Given the description of an element on the screen output the (x, y) to click on. 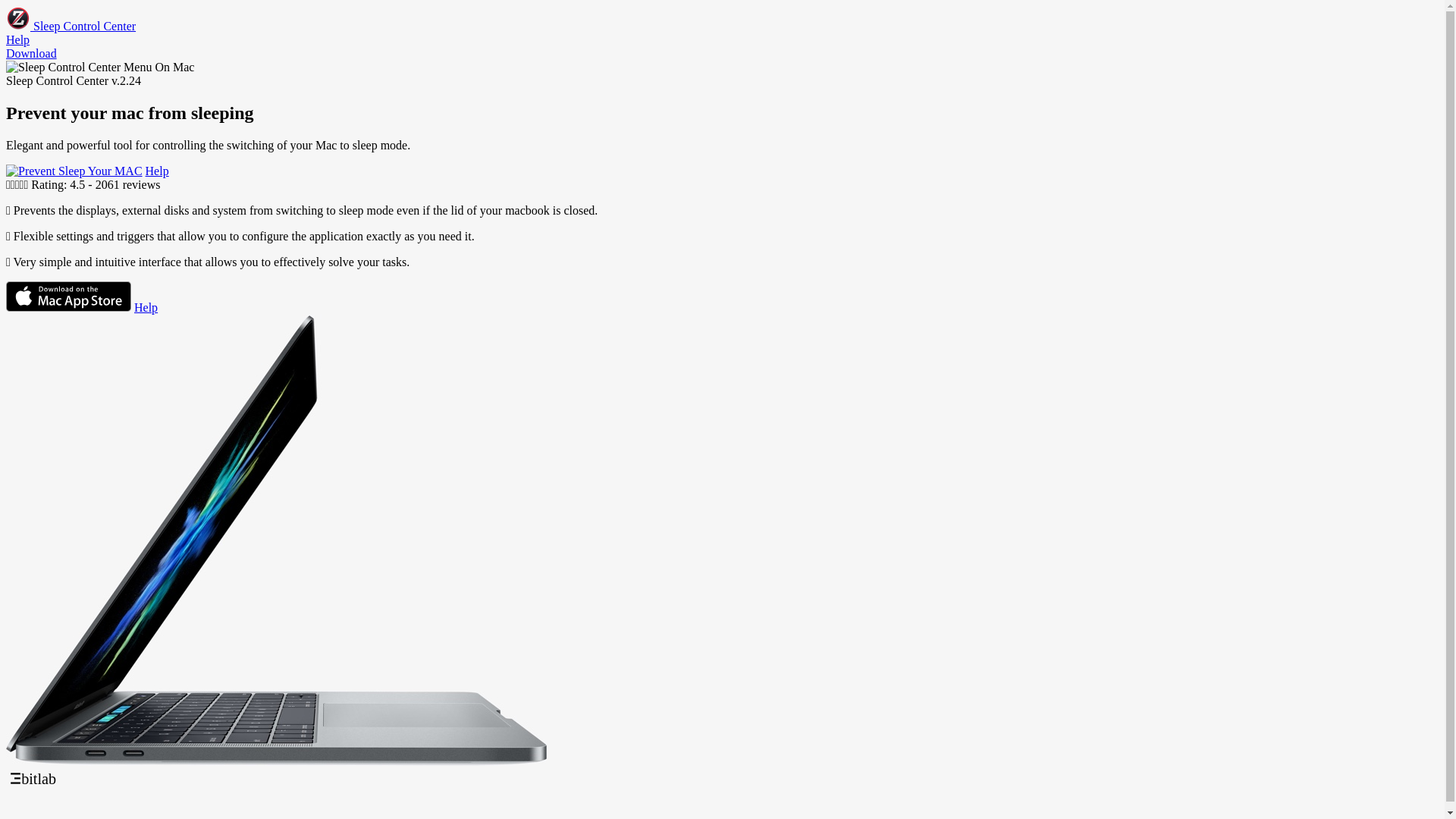
Help Element type: text (157, 170)
Download Sleep Control Center Element type: hover (68, 307)
Help Element type: text (145, 307)
Sleep Control Center Element type: text (70, 25)
Download Element type: text (31, 53)
Download Sleep Control Center Element type: hover (74, 170)
Help Element type: text (17, 39)
